Given the description of an element on the screen output the (x, y) to click on. 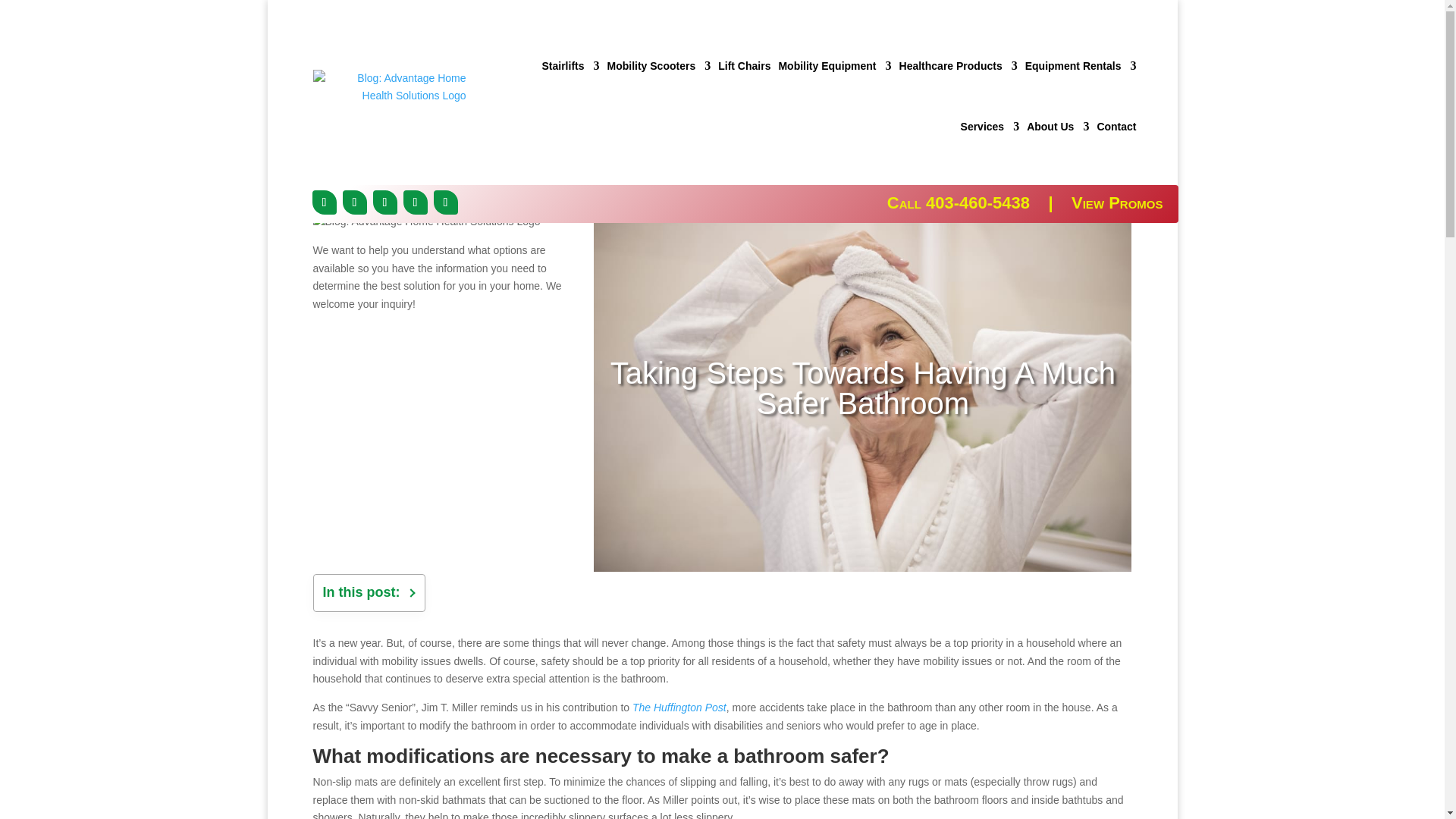
Stairlifts (569, 65)
Mobility Scooters (658, 65)
Follow on Facebook (324, 202)
Follow on X (354, 202)
Lift Chairs (743, 65)
Healthcare Products (958, 65)
Follow on Youtube (445, 202)
Follow on LinkedIn (384, 202)
Follow on Google (415, 202)
Mobility Equipment (834, 65)
